Given the description of an element on the screen output the (x, y) to click on. 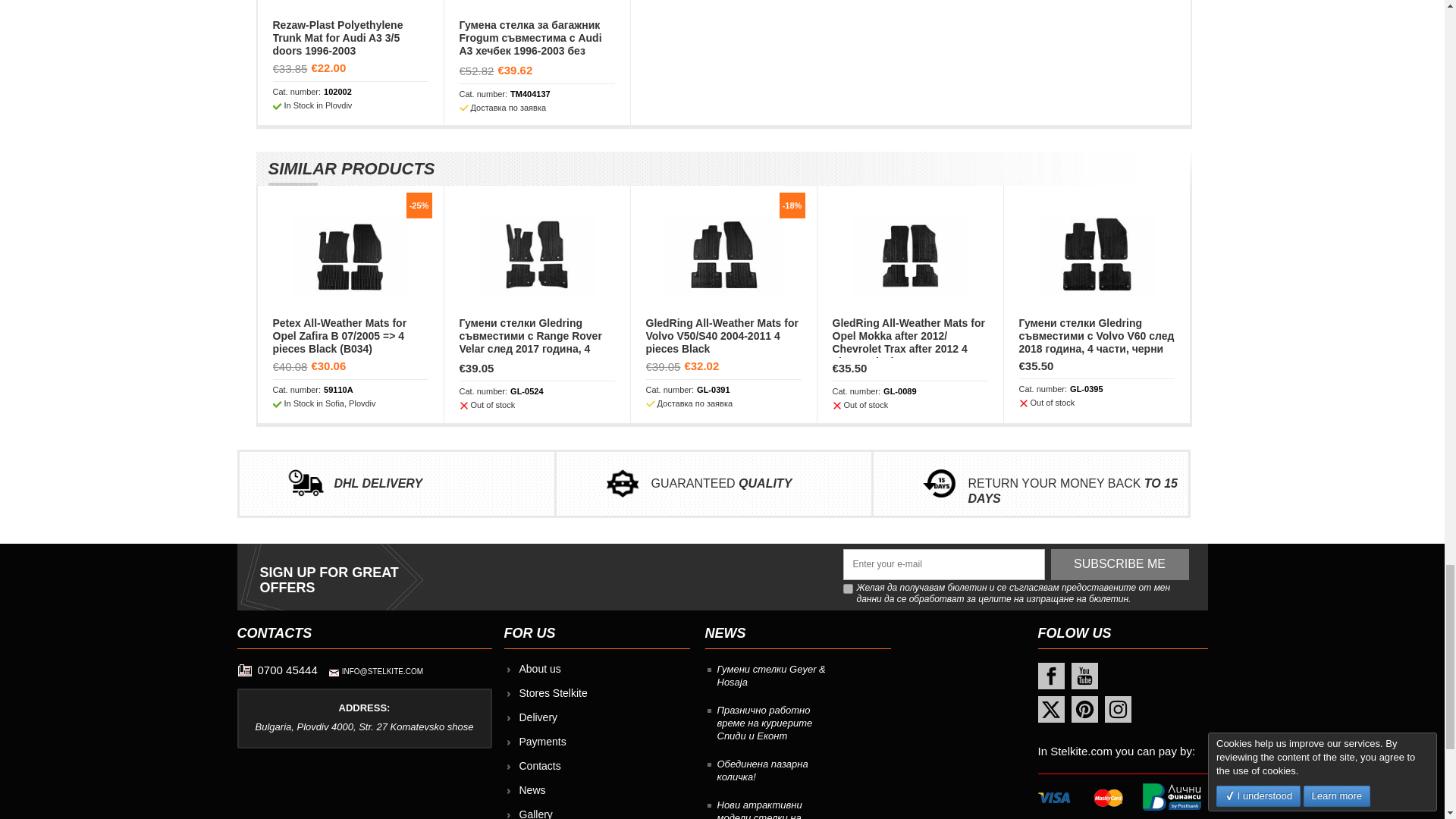
1 (848, 588)
